Given the description of an element on the screen output the (x, y) to click on. 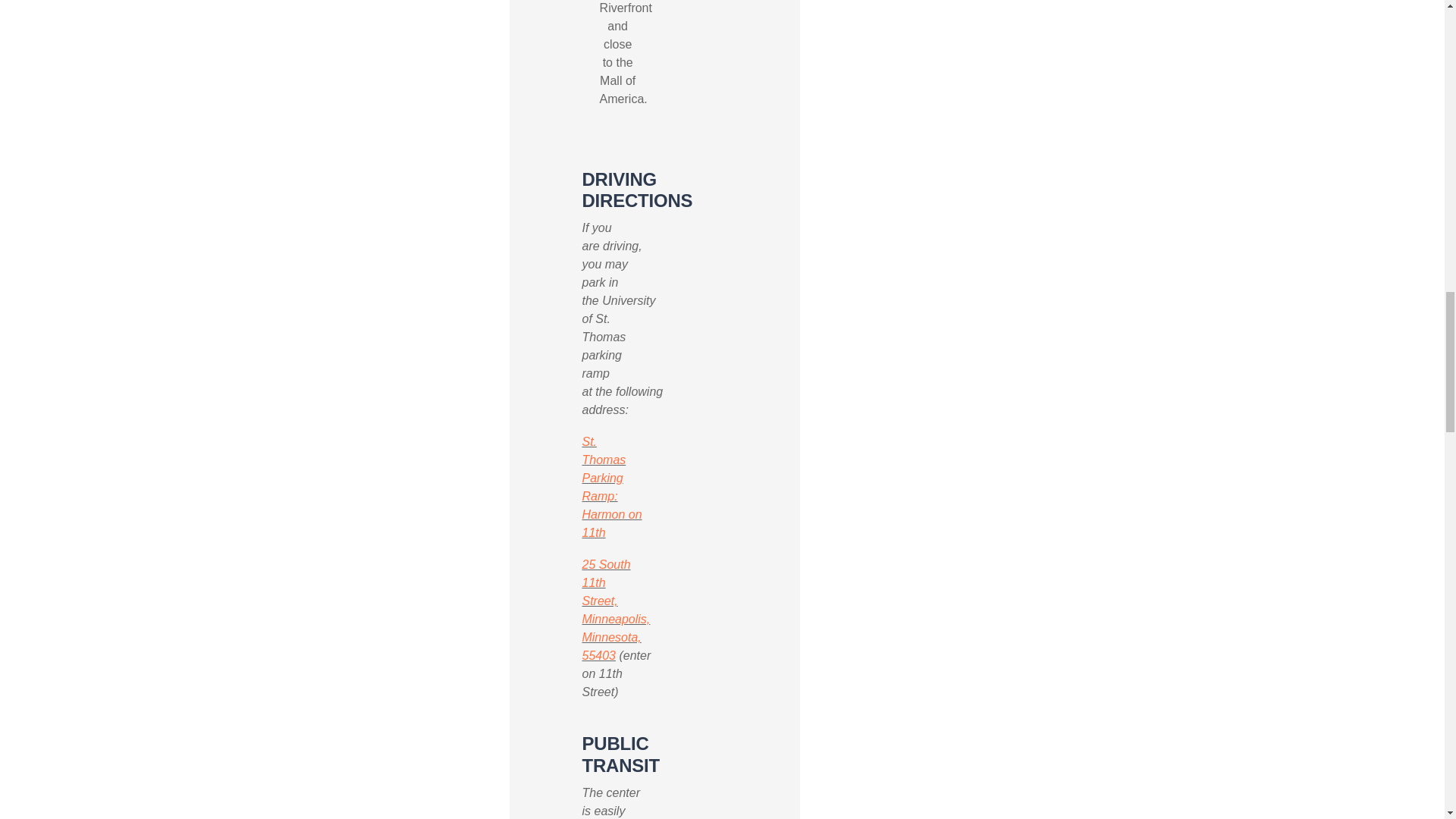
25 South 11th Street, (605, 582)
Minneapolis, Minnesota, 55403 (614, 636)
